Given the description of an element on the screen output the (x, y) to click on. 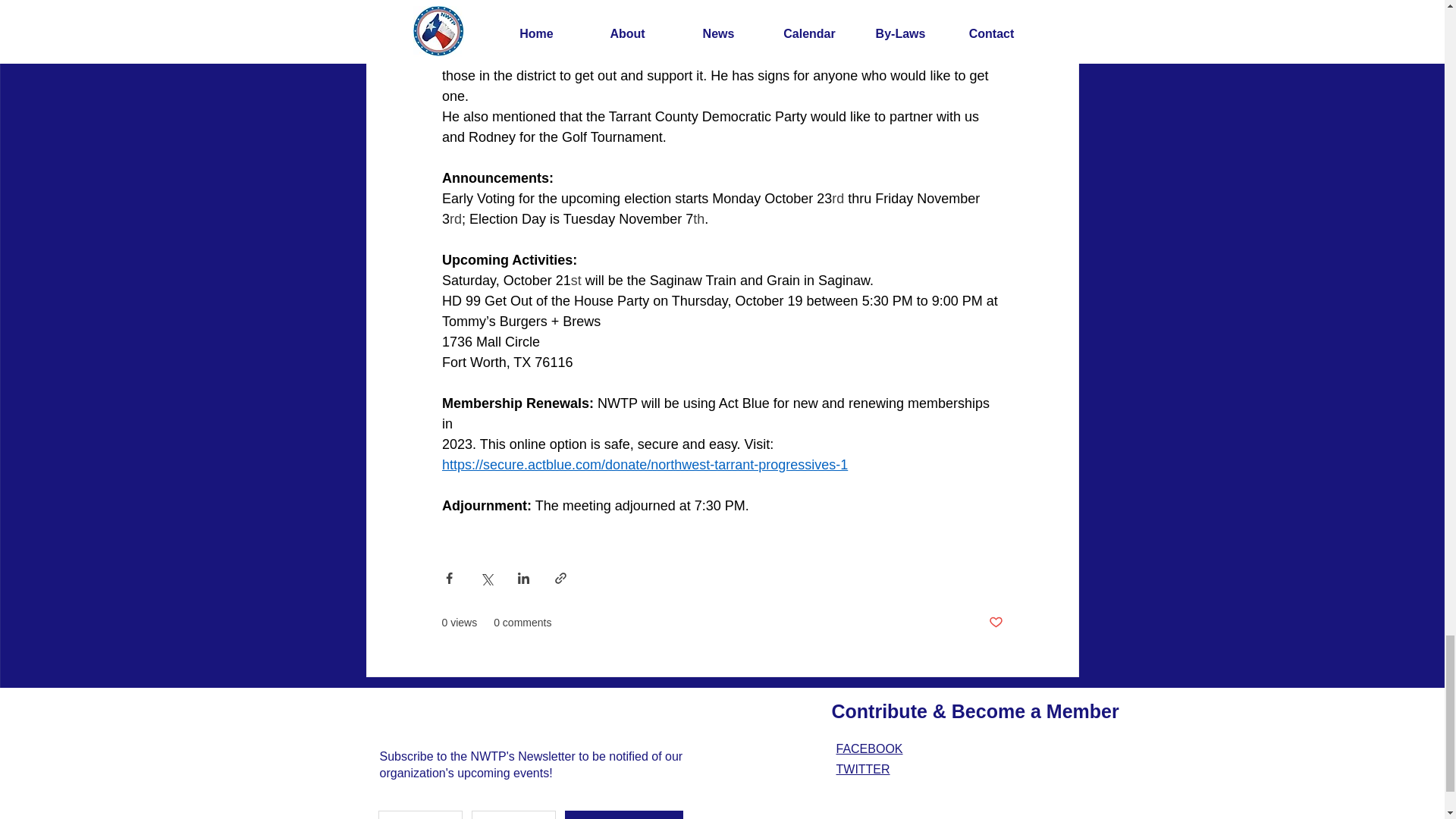
0 comments (522, 622)
Post not marked as liked (995, 622)
